Given the description of an element on the screen output the (x, y) to click on. 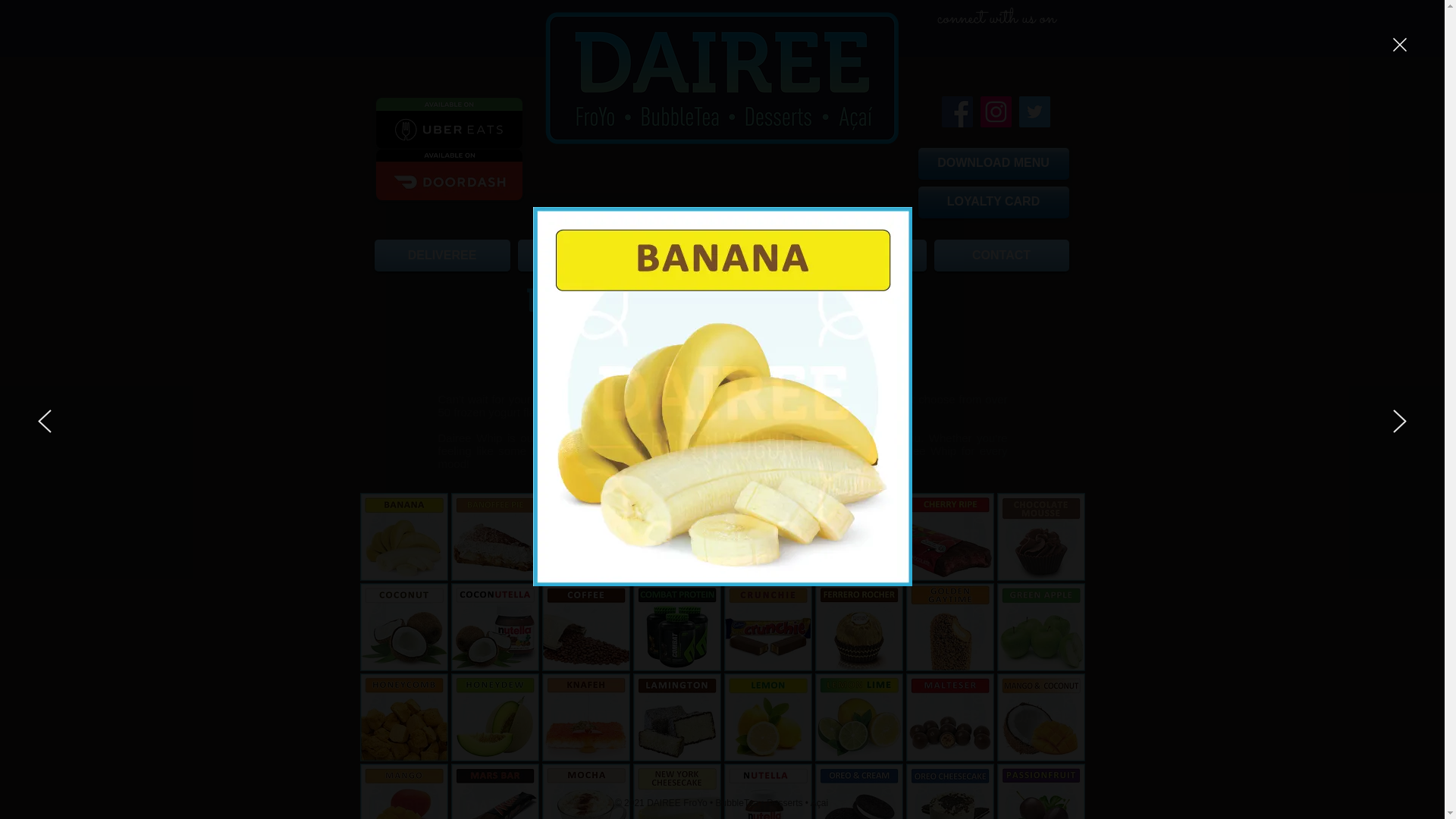
SOCIAL MEDIA Element type: text (721, 255)
CONTACT Element type: text (998, 255)
JOBS Element type: text (860, 255)
Dairee-Whip-Heading.png Element type: hover (617, 335)
LOYALTY CARD Element type: text (992, 202)
LOCATION Element type: text (583, 255)
DELIVEREE Element type: text (444, 255)
DOWNLOAD MENU Element type: text (992, 162)
